Given the description of an element on the screen output the (x, y) to click on. 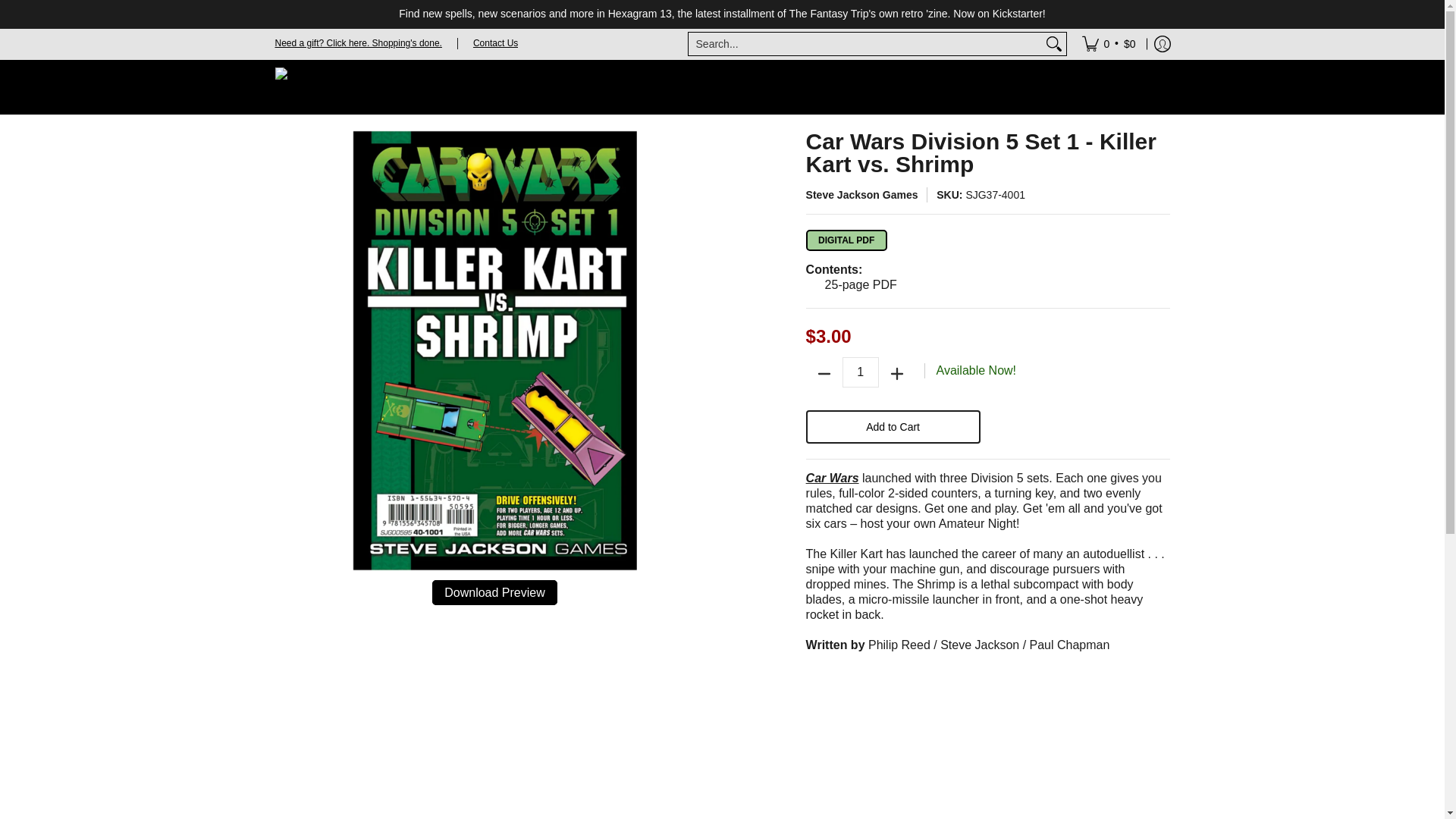
1 (861, 372)
Need a gift? Click here. Shopping's done. (358, 42)
Warehouse 23 Gift Certificate (358, 42)
Warehouse 23 (350, 86)
Log in (1161, 43)
Cart (1108, 43)
Contact Us (495, 42)
